Given the description of an element on the screen output the (x, y) to click on. 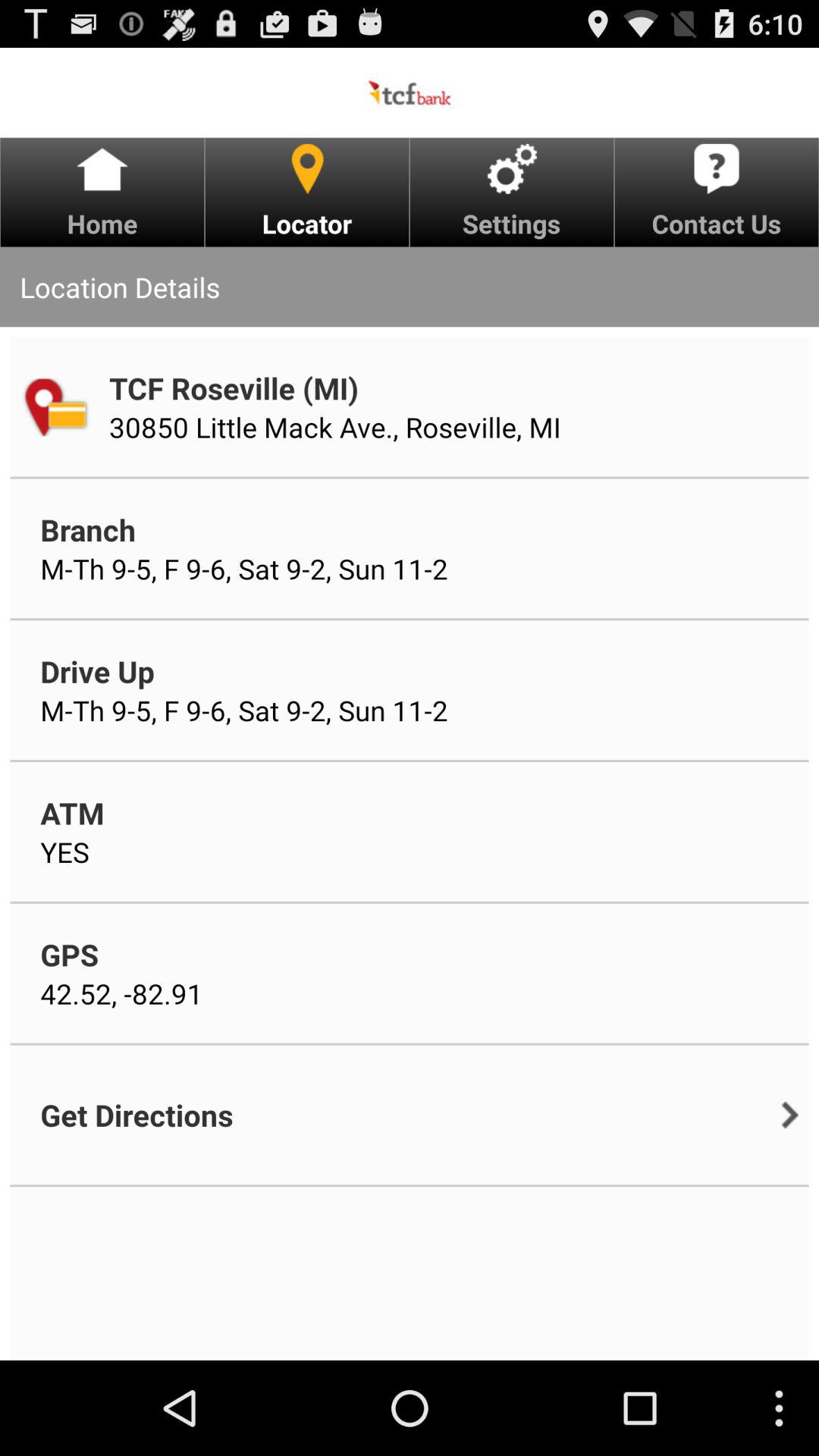
press the icon below yes icon (69, 954)
